Given the description of an element on the screen output the (x, y) to click on. 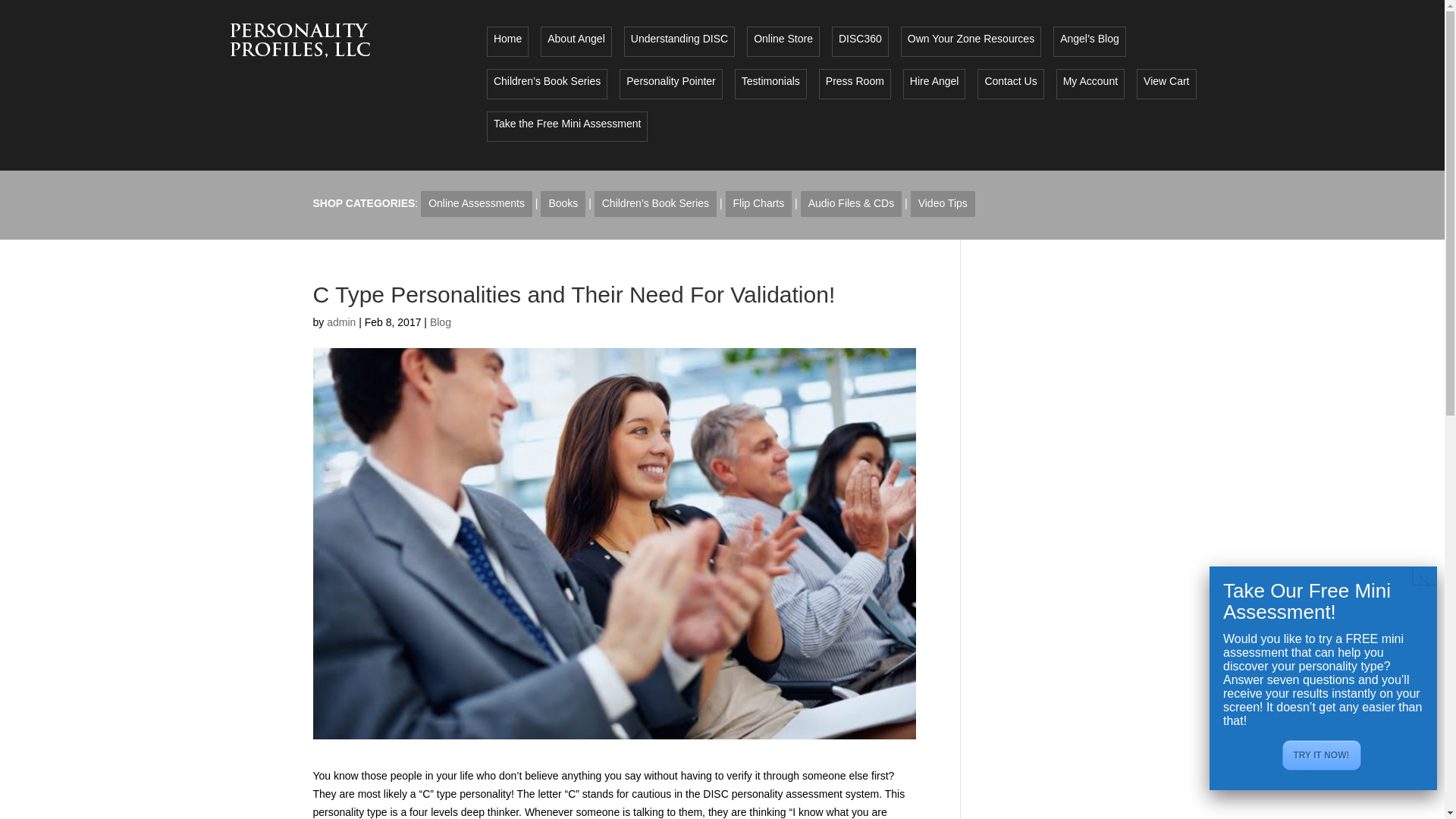
Own Your Zone Resources (970, 41)
Blog (440, 322)
Contact Us (1010, 84)
Flip Charts (758, 203)
My Account (1090, 84)
logo (299, 38)
About Angel (576, 41)
Personality Pointer (671, 84)
Testimonials (770, 84)
admin (340, 322)
Hire Angel (934, 84)
Take the Free Mini Assessment (567, 126)
View Cart (1165, 84)
DISC360 (860, 41)
Understanding DISC (679, 41)
